Given the description of an element on the screen output the (x, y) to click on. 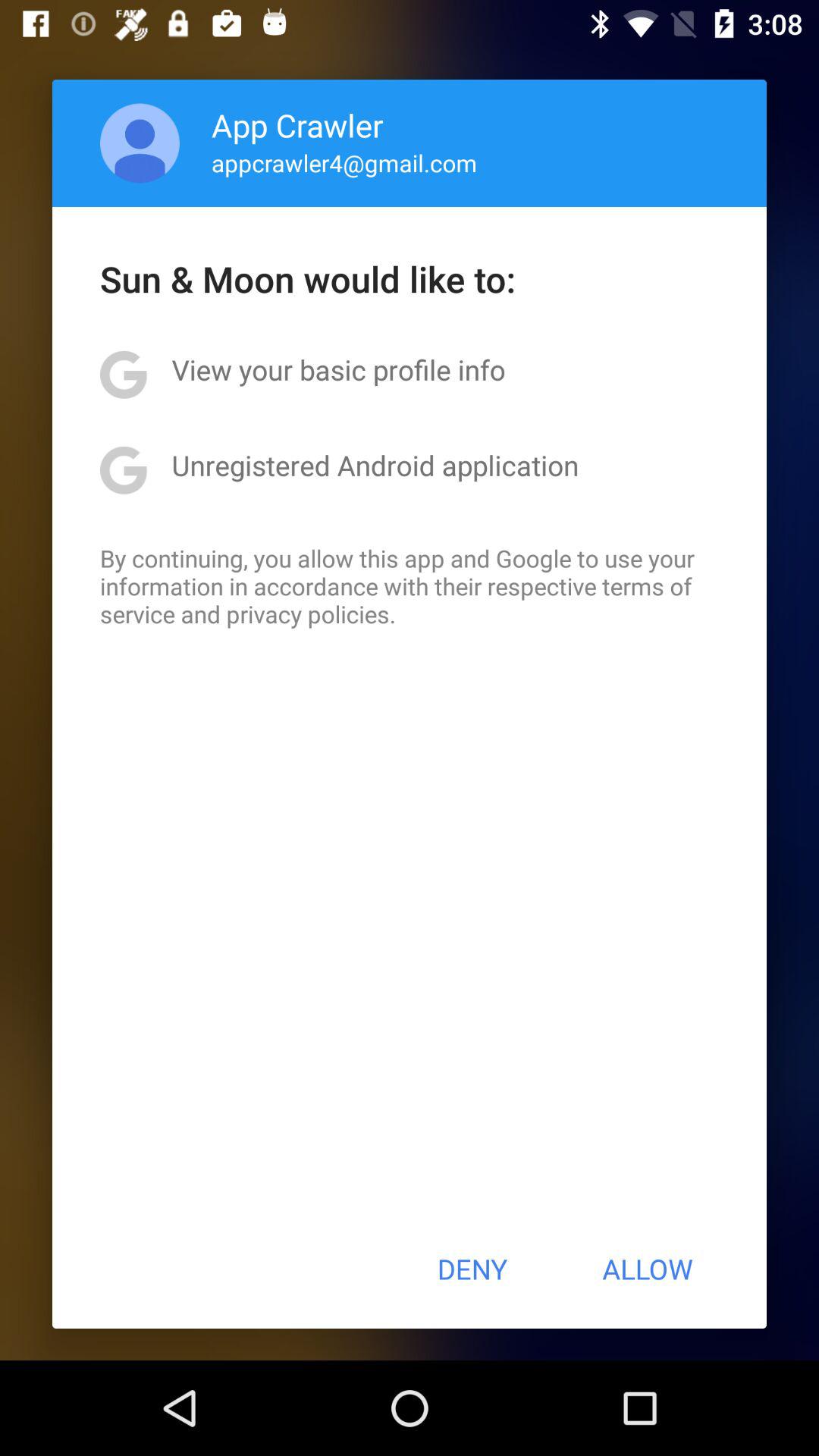
tap the icon above appcrawler4@gmail.com (297, 124)
